Given the description of an element on the screen output the (x, y) to click on. 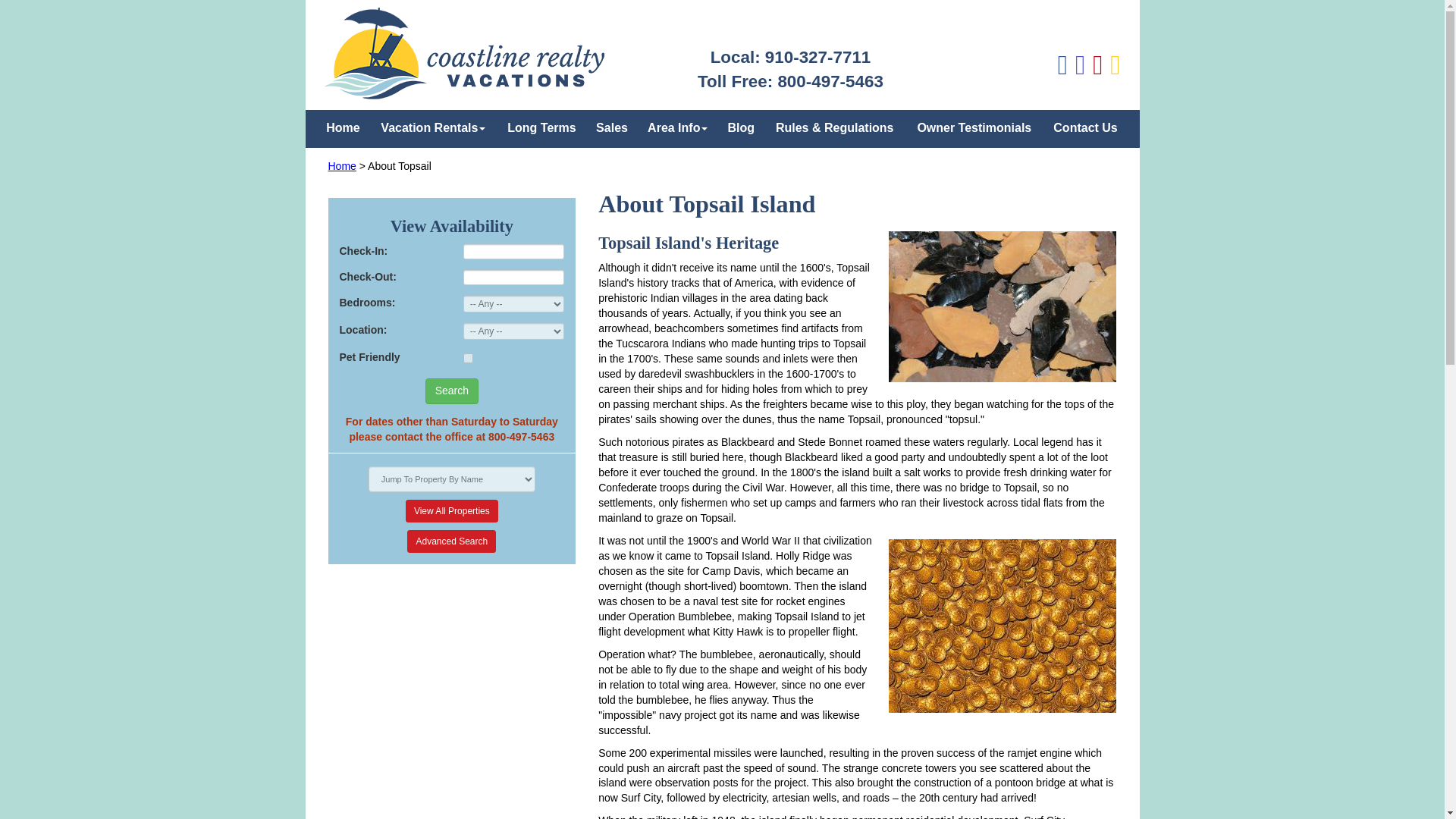
Vacation Rentals (432, 127)
Sales (611, 127)
Area Info (677, 127)
Home (343, 127)
Owner Testimonials (974, 127)
1 (468, 357)
Long Terms (541, 127)
Blog (739, 127)
Contact Us (1085, 127)
Search (452, 391)
